Given the description of an element on the screen output the (x, y) to click on. 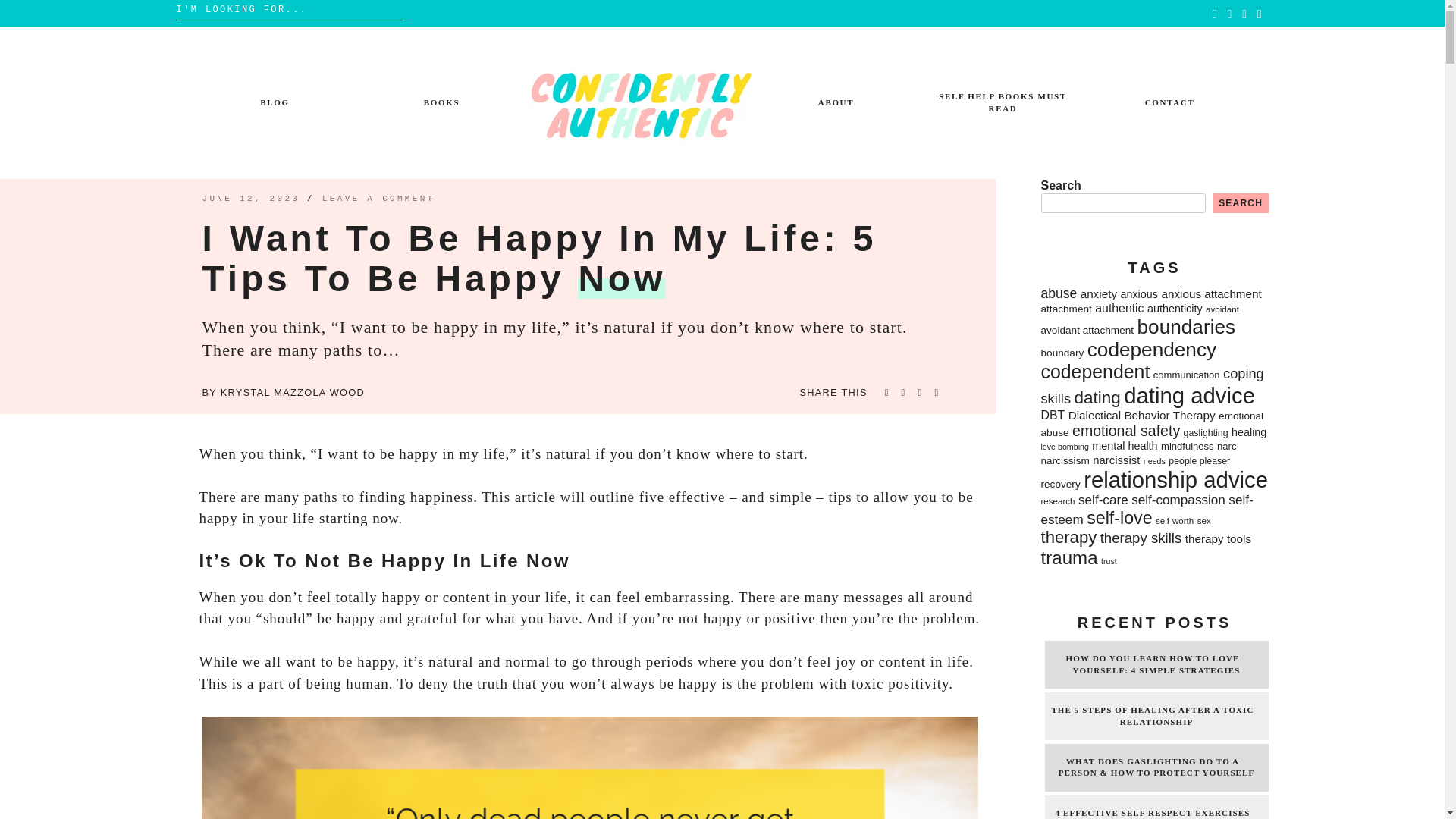
LEAVE A COMMENT (378, 198)
BLOG (274, 102)
CONTACT (1169, 102)
KRYSTAL MAZZOLA WOOD (293, 392)
JUNE 12, 2023 (250, 198)
SELF HELP BOOKS MUST READ (1003, 101)
BOOKS (441, 102)
ABOUT (835, 102)
